Given the description of an element on the screen output the (x, y) to click on. 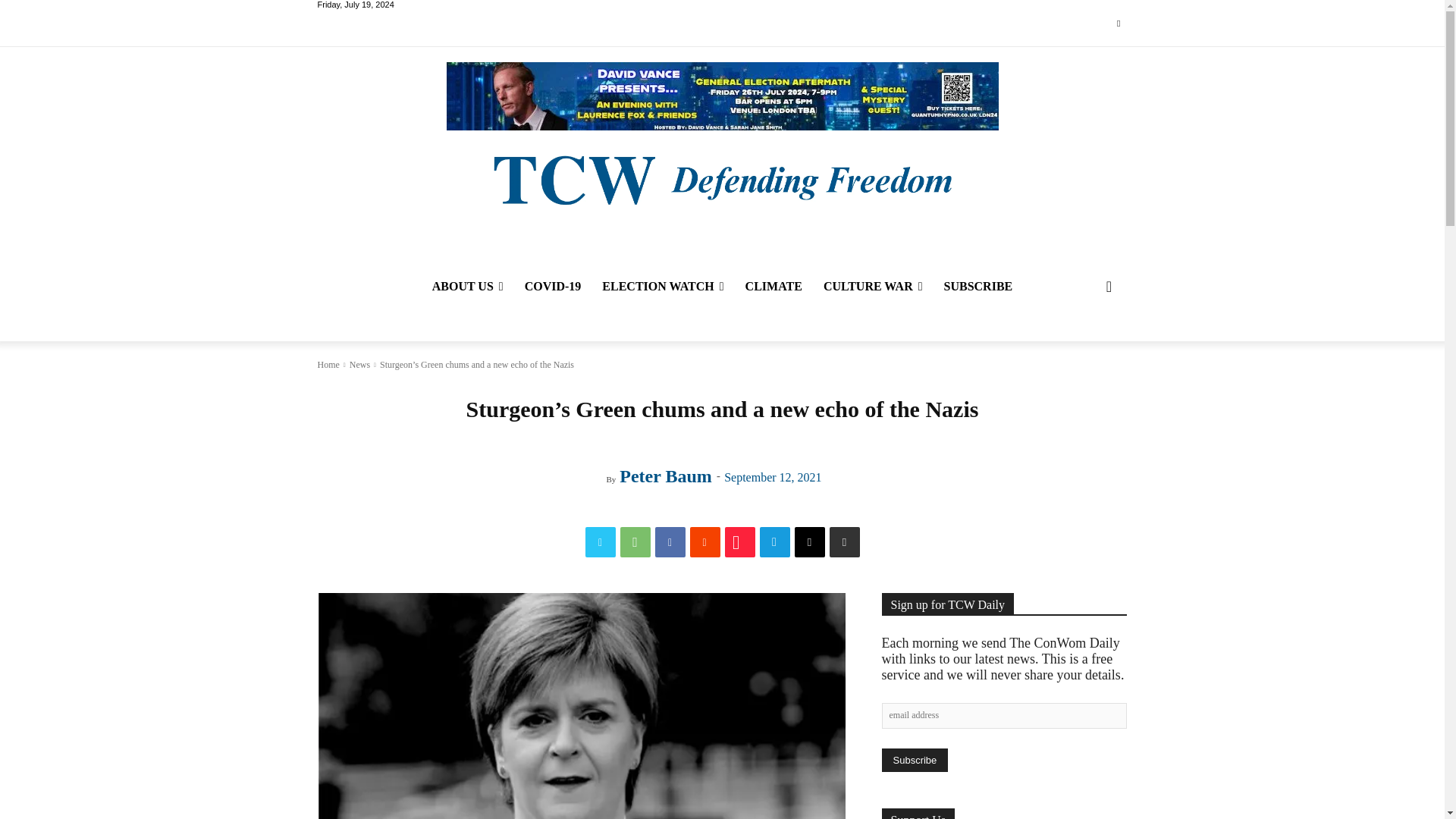
CLIMATE (773, 286)
The Conservative Woman (721, 178)
ELECTION WATCH (662, 286)
COVID-19 (552, 286)
Gettr (740, 542)
ABOUT US (467, 286)
Telegram (775, 542)
Twitter (600, 542)
View all posts in News (359, 364)
Facebook (670, 542)
Twitter (1117, 23)
WhatsApp (635, 542)
Subscribe (913, 760)
ReddIt (705, 542)
